Given the description of an element on the screen output the (x, y) to click on. 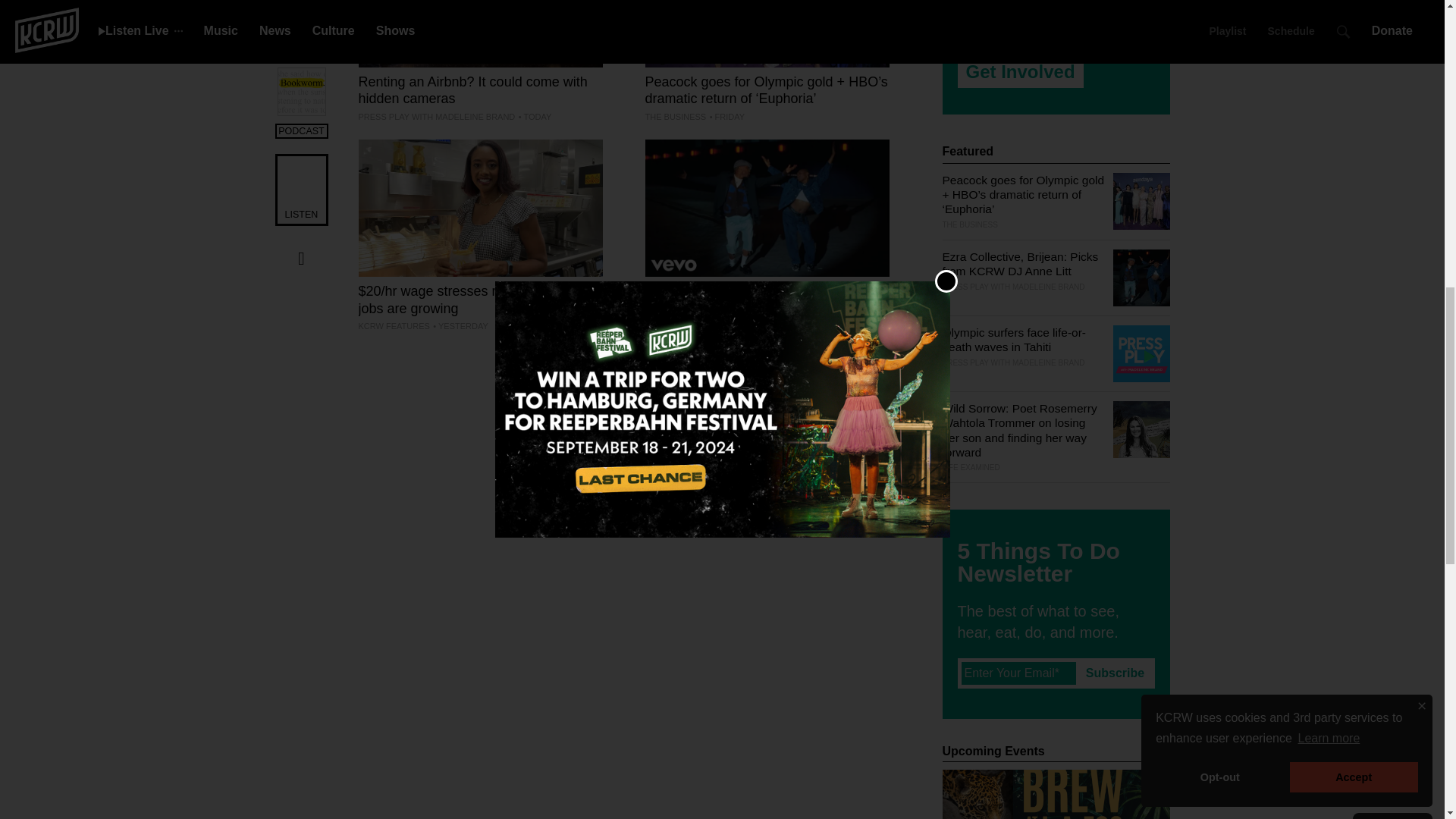
Subscribe (1114, 673)
Monday, July 29th 2024, 3:00 pm (459, 325)
Tuesday, July 30th 2024, 3:00 am (534, 116)
Friday, July 26th 2024, 3:00 pm (727, 116)
Tuesday, July 30th 2024, 3:00 am (821, 325)
